Given the description of an element on the screen output the (x, y) to click on. 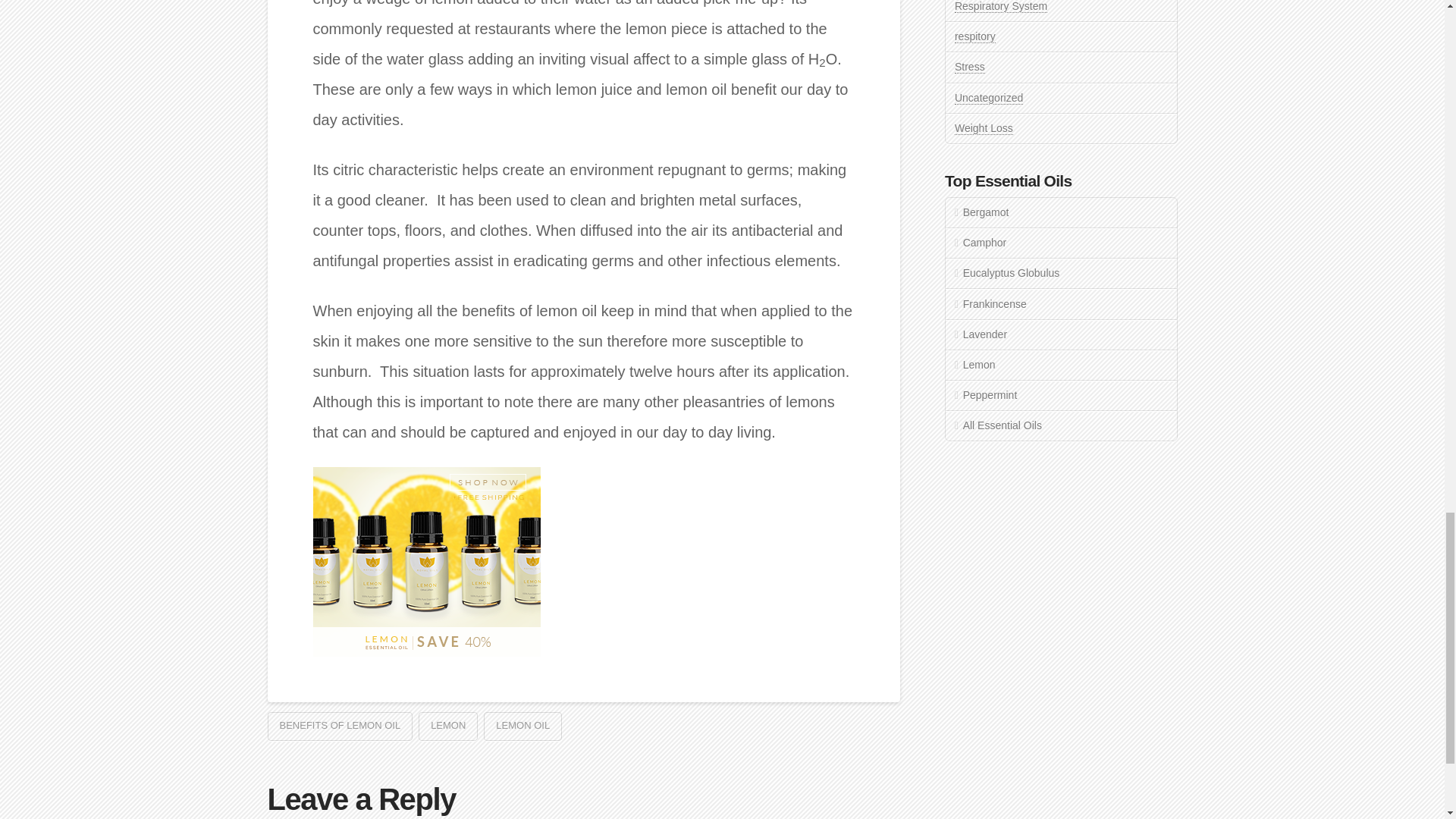
LEMON (448, 726)
300x250-lemon-04 (426, 561)
BENEFITS OF LEMON OIL (339, 726)
LEMON OIL (522, 726)
